Given the description of an element on the screen output the (x, y) to click on. 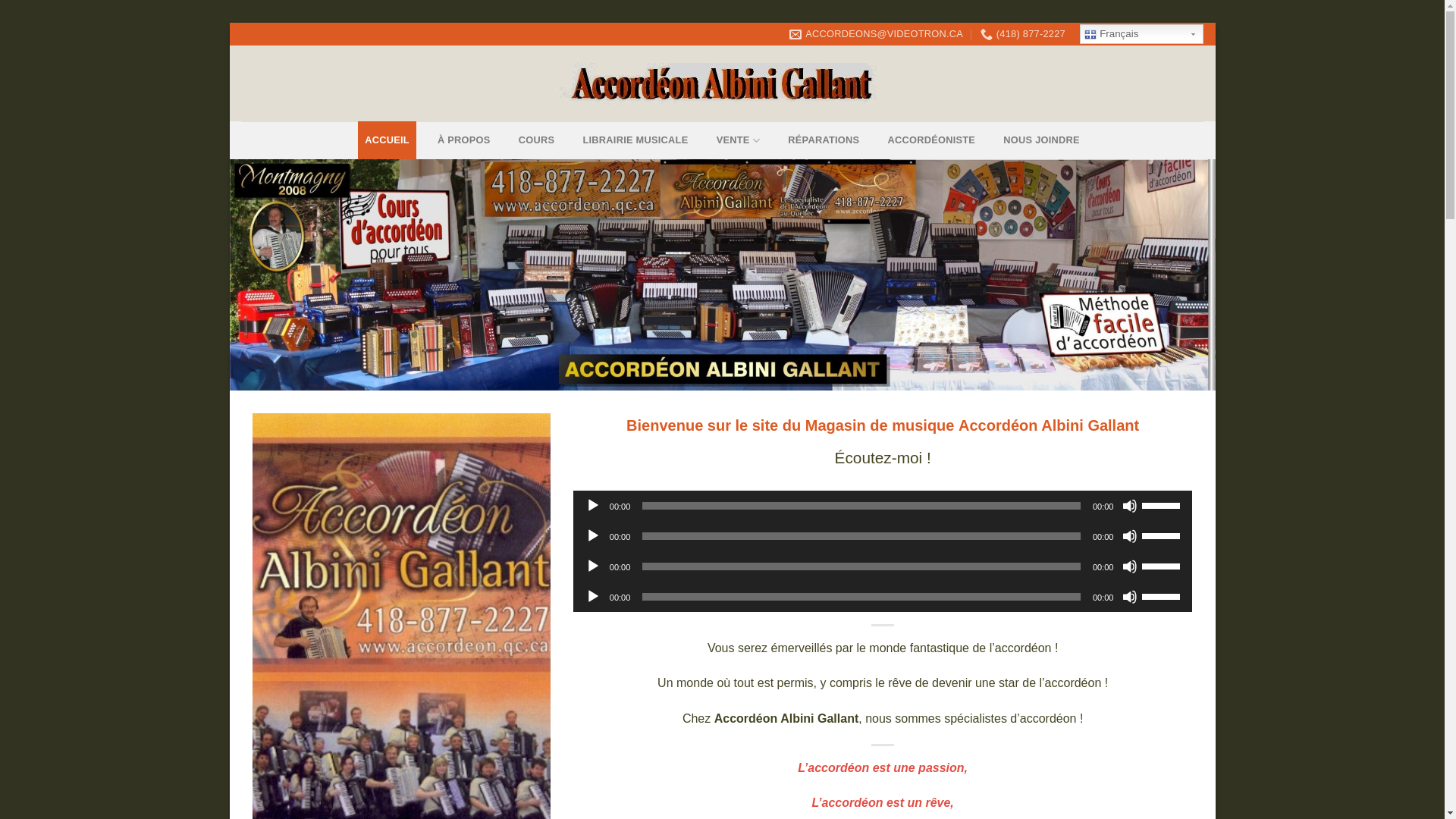
(418) 877-2227 Element type: text (1022, 33)
Skip to content Element type: text (229, 22)
ACCORDEONS@VIDEOTRON.CA Element type: text (876, 33)
NOUS JOINDRE Element type: text (1041, 140)
Muet Element type: hover (1129, 535)
ACCUEIL Element type: text (387, 140)
Lecture Element type: hover (592, 596)
COURS Element type: text (536, 140)
Lecture Element type: hover (592, 535)
Muet Element type: hover (1129, 505)
LIBRAIRIE MUSICALE Element type: text (635, 140)
Muet Element type: hover (1129, 566)
Muet Element type: hover (1129, 596)
Lecture Element type: hover (592, 566)
VENTE Element type: text (738, 140)
Lecture Element type: hover (592, 505)
